Given the description of an element on the screen output the (x, y) to click on. 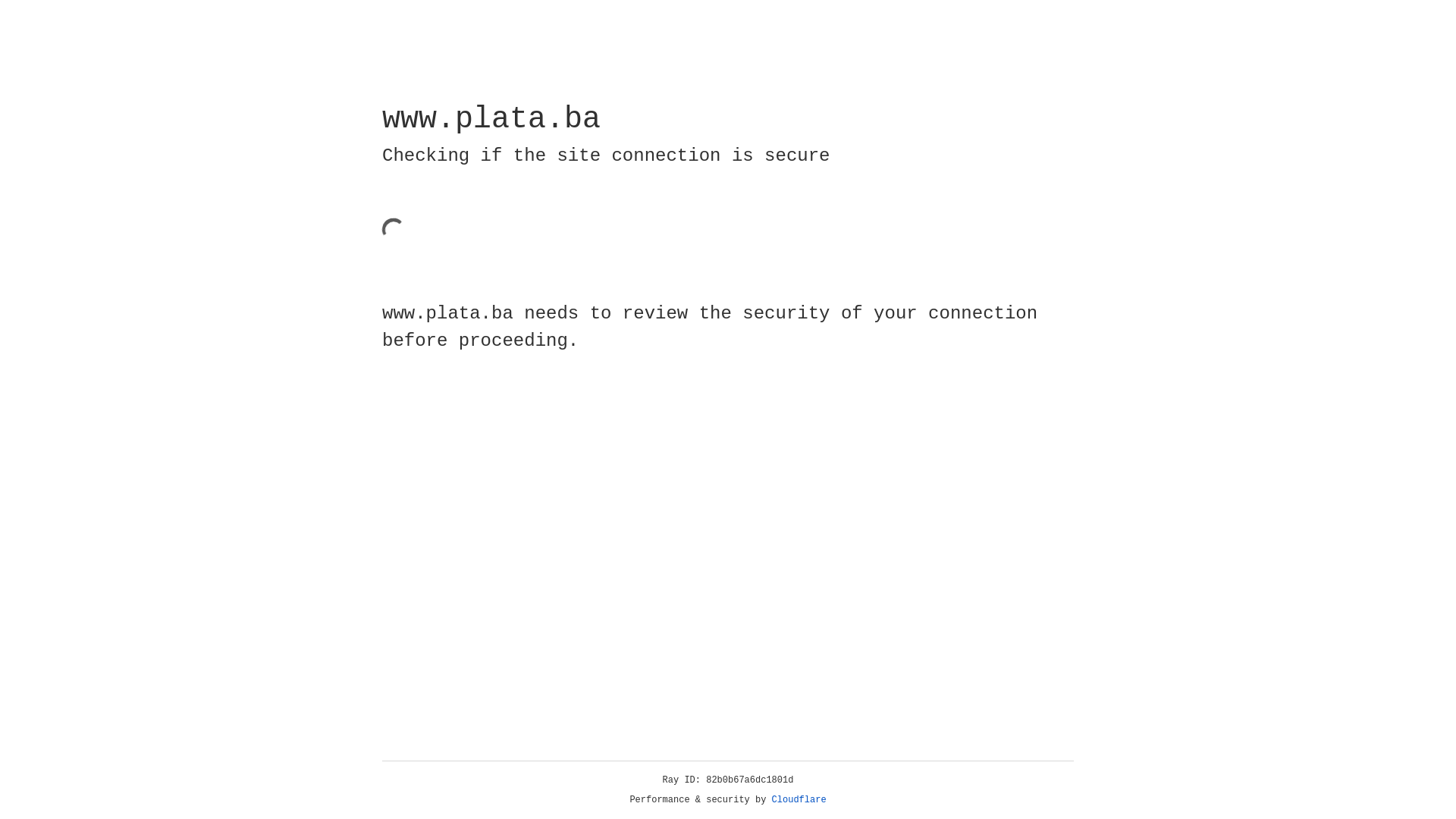
Cloudflare Element type: text (798, 799)
